Given the description of an element on the screen output the (x, y) to click on. 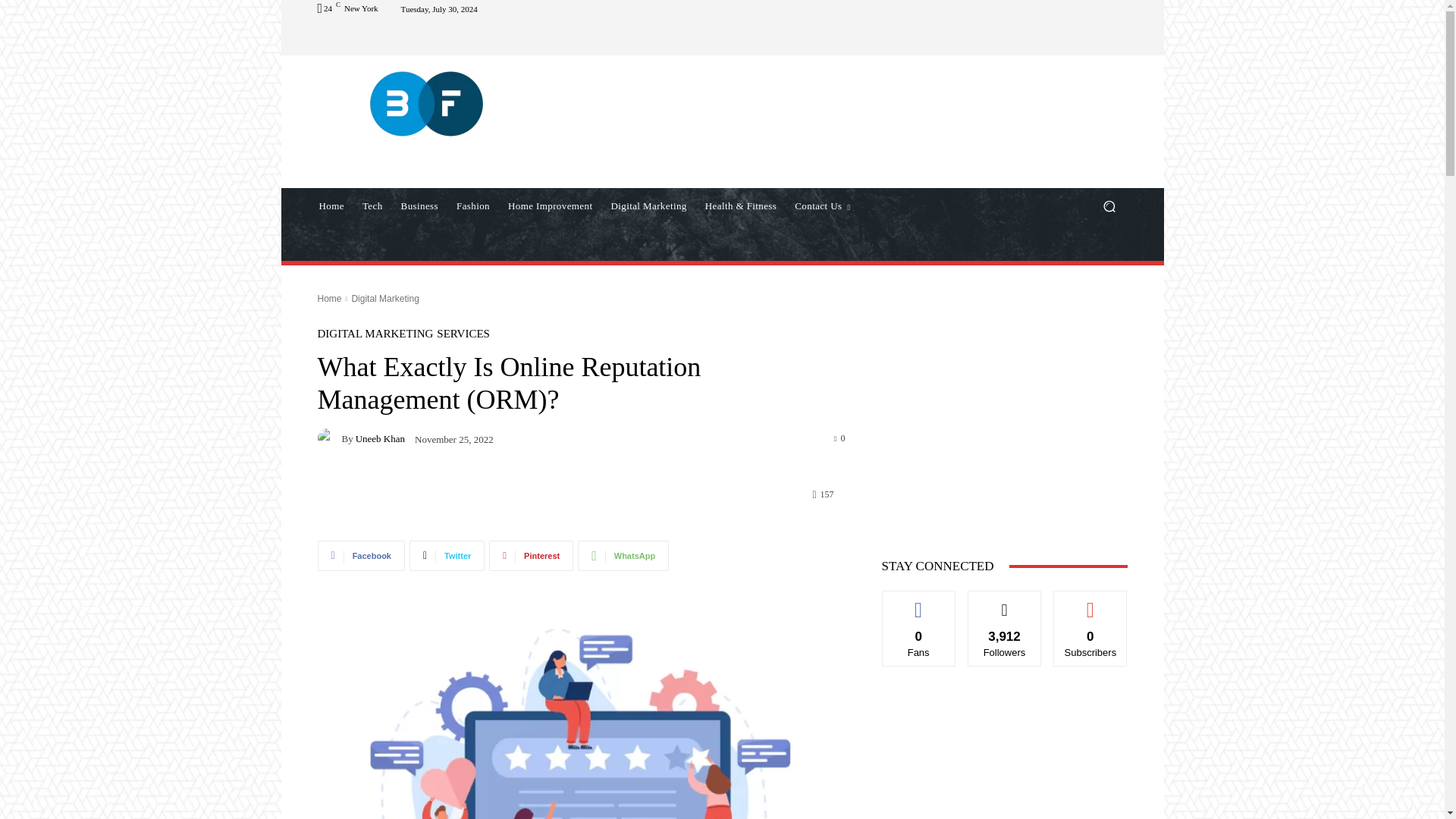
Facebook (360, 555)
Tech (372, 206)
View all posts in Digital Marketing (384, 298)
Home (330, 206)
Uneeb Khan (328, 437)
Business (418, 206)
Home Improvement (550, 206)
Pinterest (531, 555)
Digital Marketing (648, 206)
Contact Us (822, 206)
Twitter (446, 555)
WhatsApp (623, 555)
online reputation management services usa (580, 715)
Fashion (472, 206)
